Given the description of an element on the screen output the (x, y) to click on. 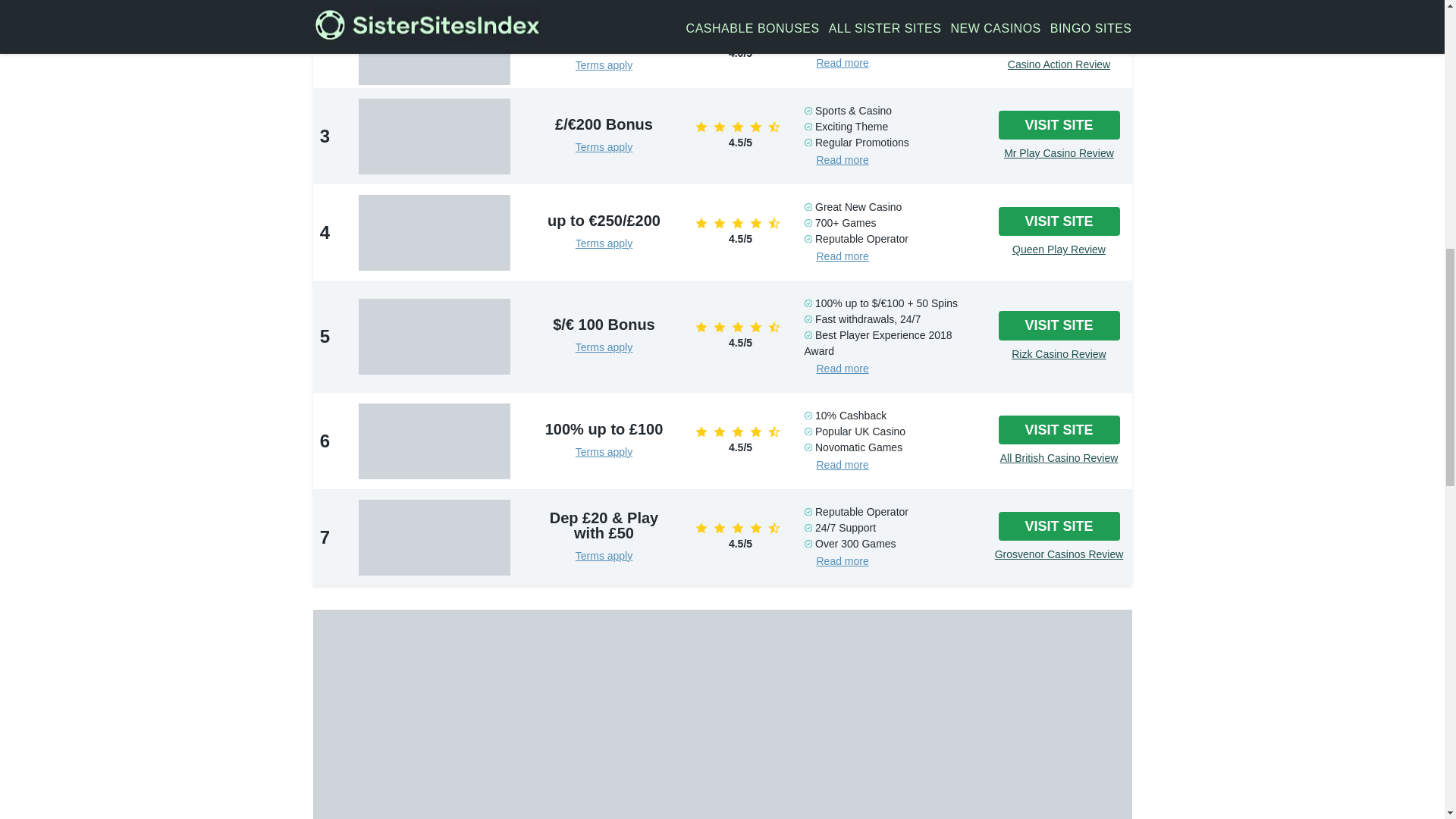
VISIT SITE (1058, 125)
Terms apply (603, 146)
Terms apply (603, 64)
Read more (841, 62)
Casino Action Review (1058, 64)
VISIT SITE (1058, 35)
Read more (841, 159)
Mr Play Casino Review (1058, 153)
